Given the description of an element on the screen output the (x, y) to click on. 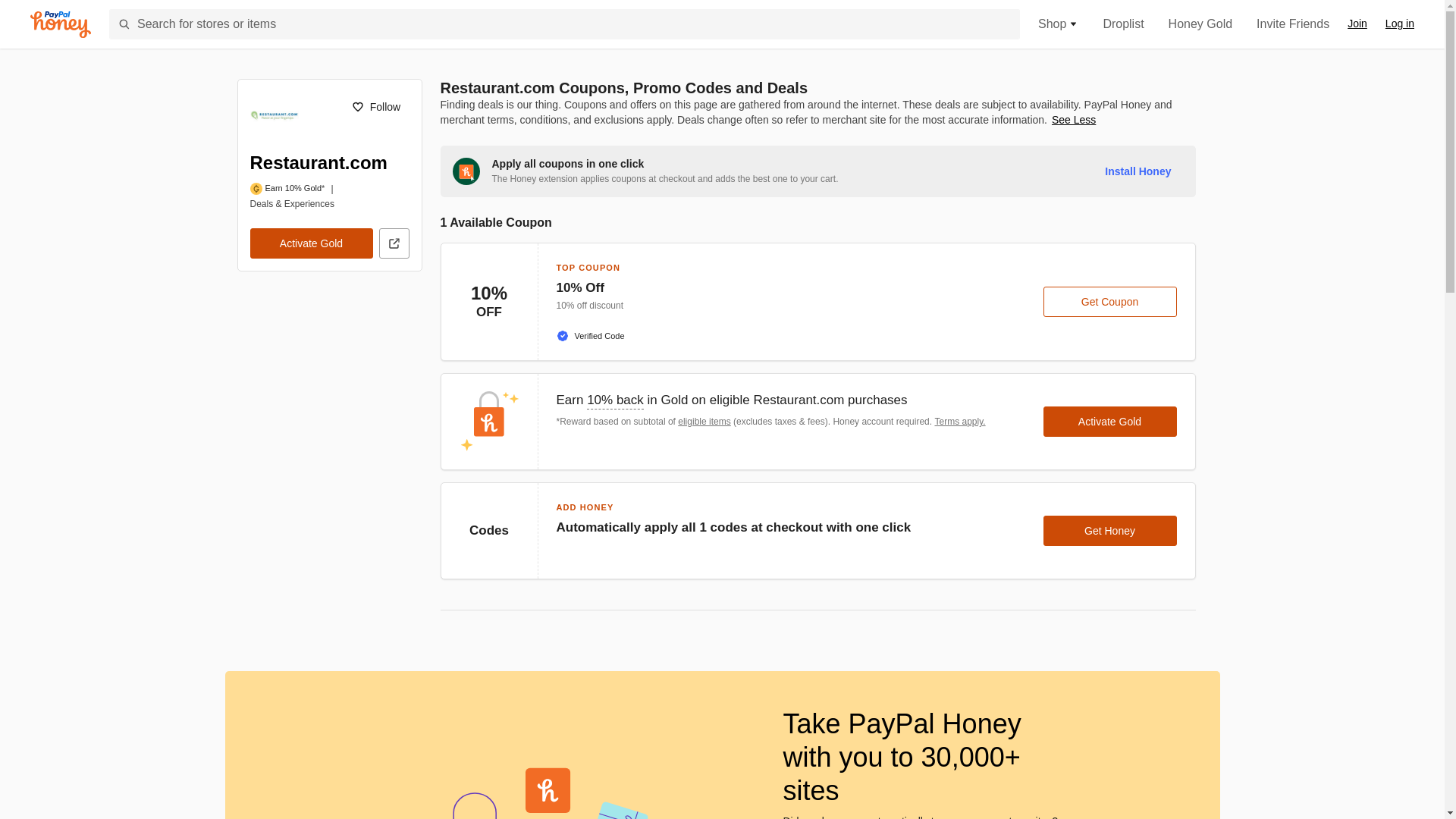
Follow (375, 106)
See Less (1073, 119)
Install Honey (1137, 171)
Honey Gold (1201, 24)
Invite Friends (1292, 24)
Get Honey (1109, 530)
Terms apply. (959, 421)
eligible items (704, 421)
Get Coupon (1109, 301)
Droplist (1122, 24)
Activate Gold (1109, 421)
Activate Gold (311, 243)
